Given the description of an element on the screen output the (x, y) to click on. 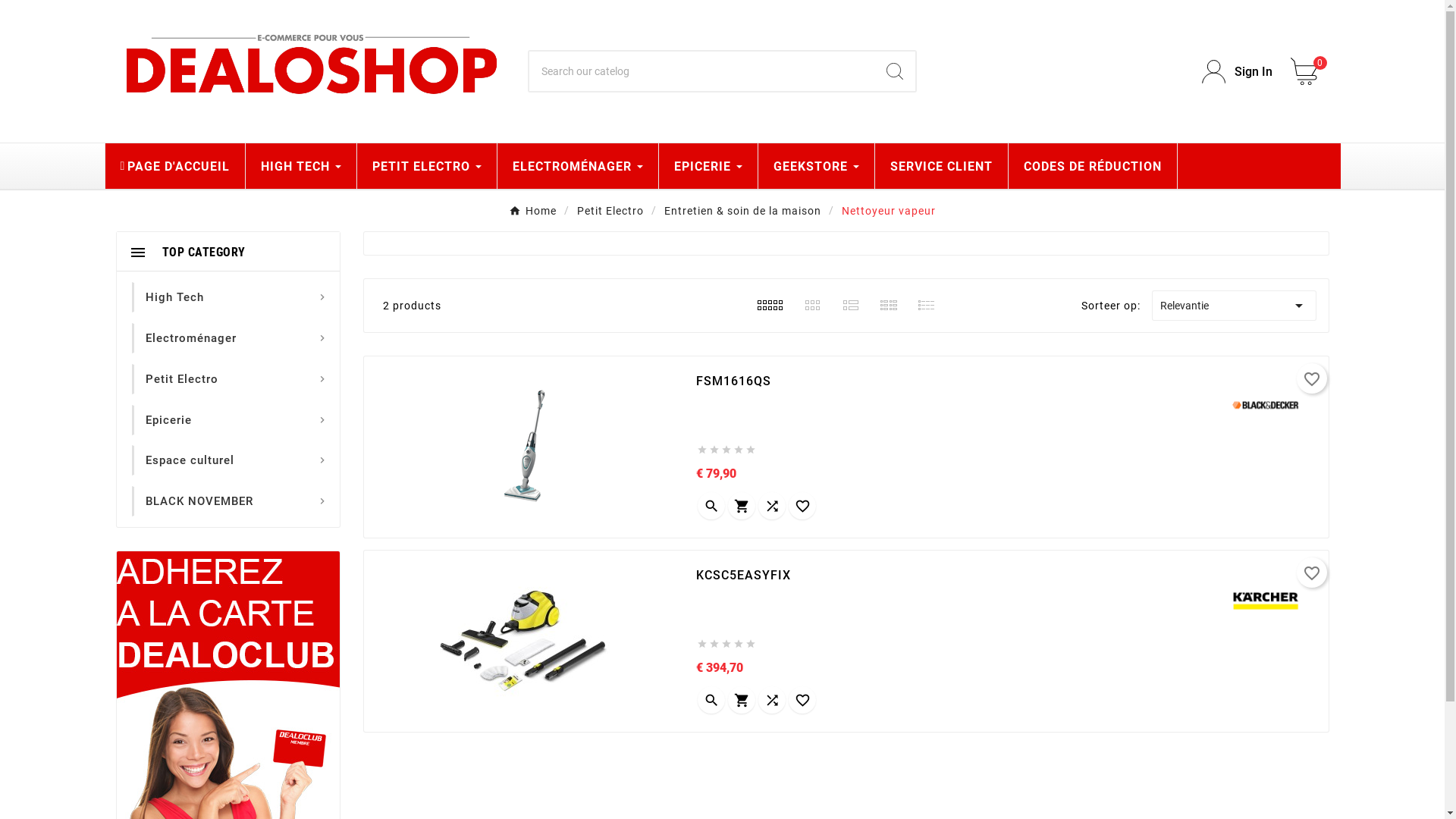
Petit Electro Element type: text (610, 209)
Home Element type: text (532, 209)
GEEKSTORE Element type: text (816, 165)
FSM1616QS Element type: text (952, 381)
favorite_border Element type: text (1311, 572)
KCSC5EASYFIX Element type: text (952, 575)
Nettoyeur vapeur Element type: text (888, 209)
Petit Electro Element type: text (181, 379)
PETIT ELECTRO Element type: text (426, 165)
Espace culturel Element type: text (189, 460)
PAGE D'ACCUEIL Element type: text (174, 165)
Entretien & soin de la maison Element type: text (742, 209)
Epicerie Element type: text (168, 420)
HIGH TECH Element type: text (300, 165)
BLACK NOVEMBER Element type: text (199, 501)
0 Element type: text (1309, 70)
Sign In Element type: text (1236, 71)
favorite_border Element type: text (1311, 378)
EPICERIE Element type: text (707, 165)
High Tech Element type: text (174, 297)
SERVICE CLIENT Element type: text (941, 165)
